Given the description of an element on the screen output the (x, y) to click on. 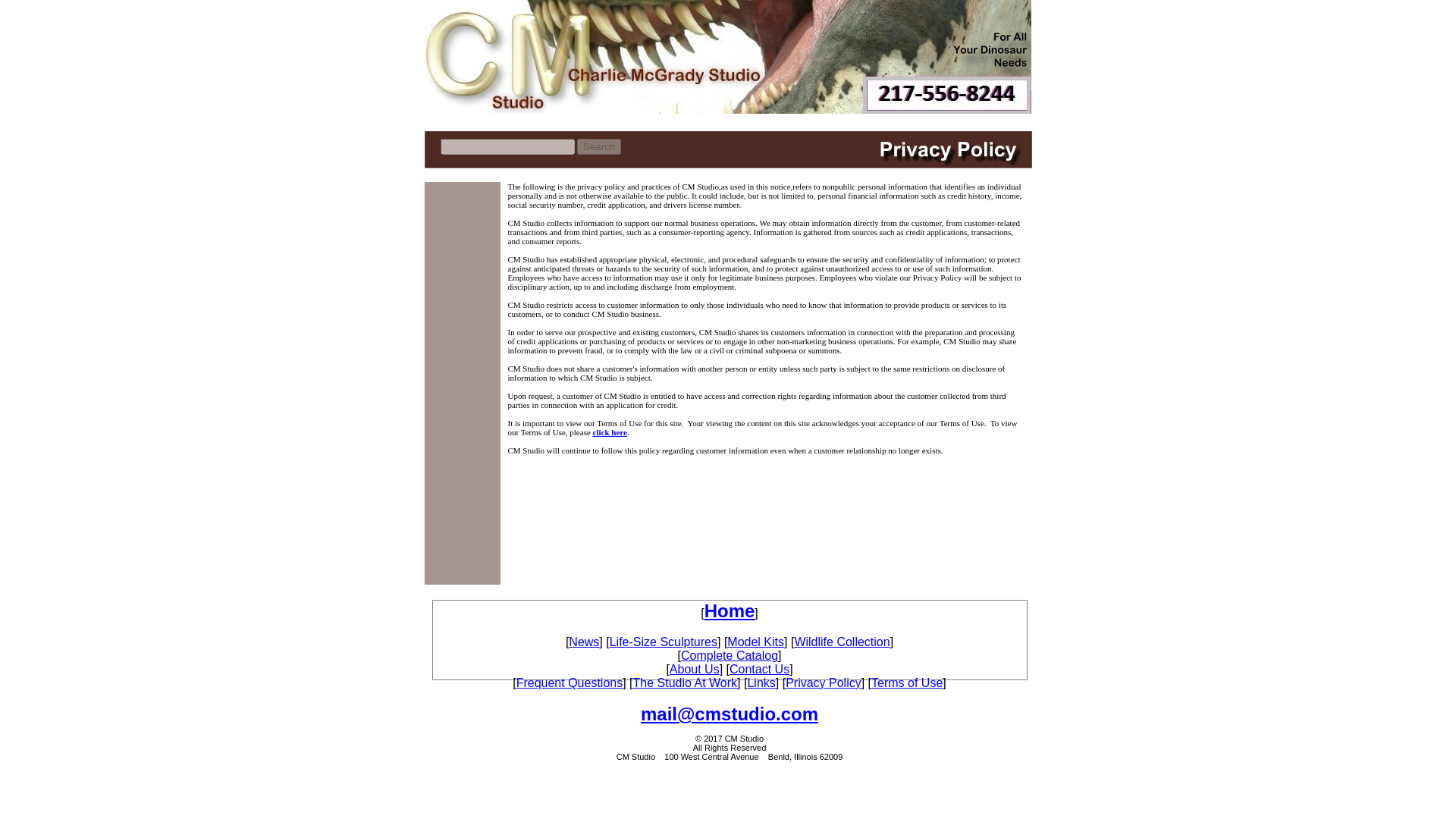
Frequent Questions (569, 682)
Search (598, 146)
Privacy Policy (823, 682)
Links (760, 682)
About Us (694, 668)
click here (609, 431)
Search (598, 146)
Model Kits (755, 641)
Complete Catalog (729, 655)
Terms of Use (906, 682)
